Given the description of an element on the screen output the (x, y) to click on. 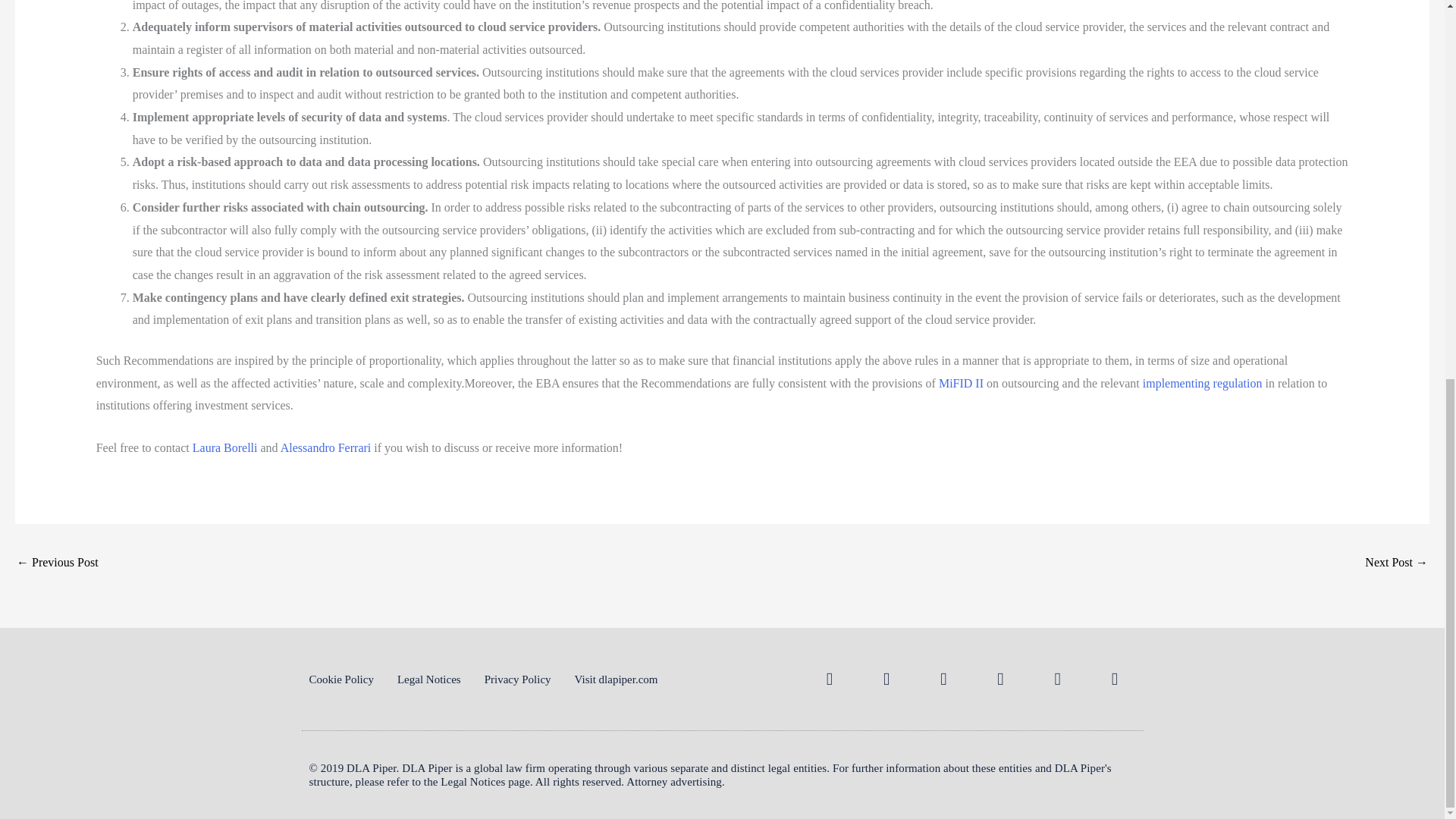
Linkedin (829, 679)
Facebook fan page admin liable for its privacy compliance (1396, 563)
Legal Notices (429, 678)
MiFID II (961, 382)
Alessandro Ferrari (326, 447)
Legislative Decree no. 63 of 11 May 2018 (57, 563)
Visit dlapiper.com (616, 678)
Cookie Policy (341, 678)
Privacy Policy (517, 678)
Visit dlapiper.com (616, 678)
